Given the description of an element on the screen output the (x, y) to click on. 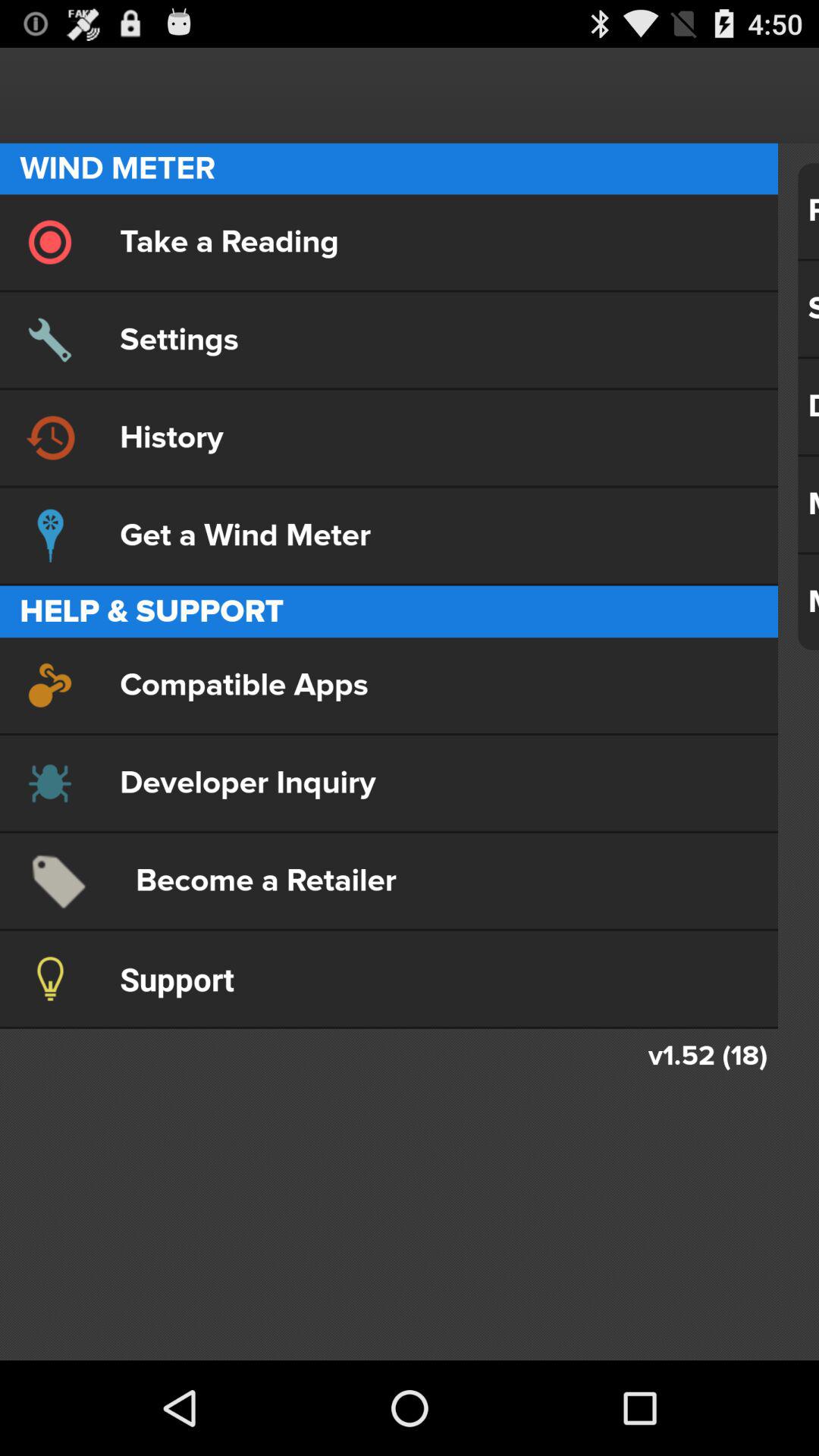
launch compatible apps (389, 685)
